Given the description of an element on the screen output the (x, y) to click on. 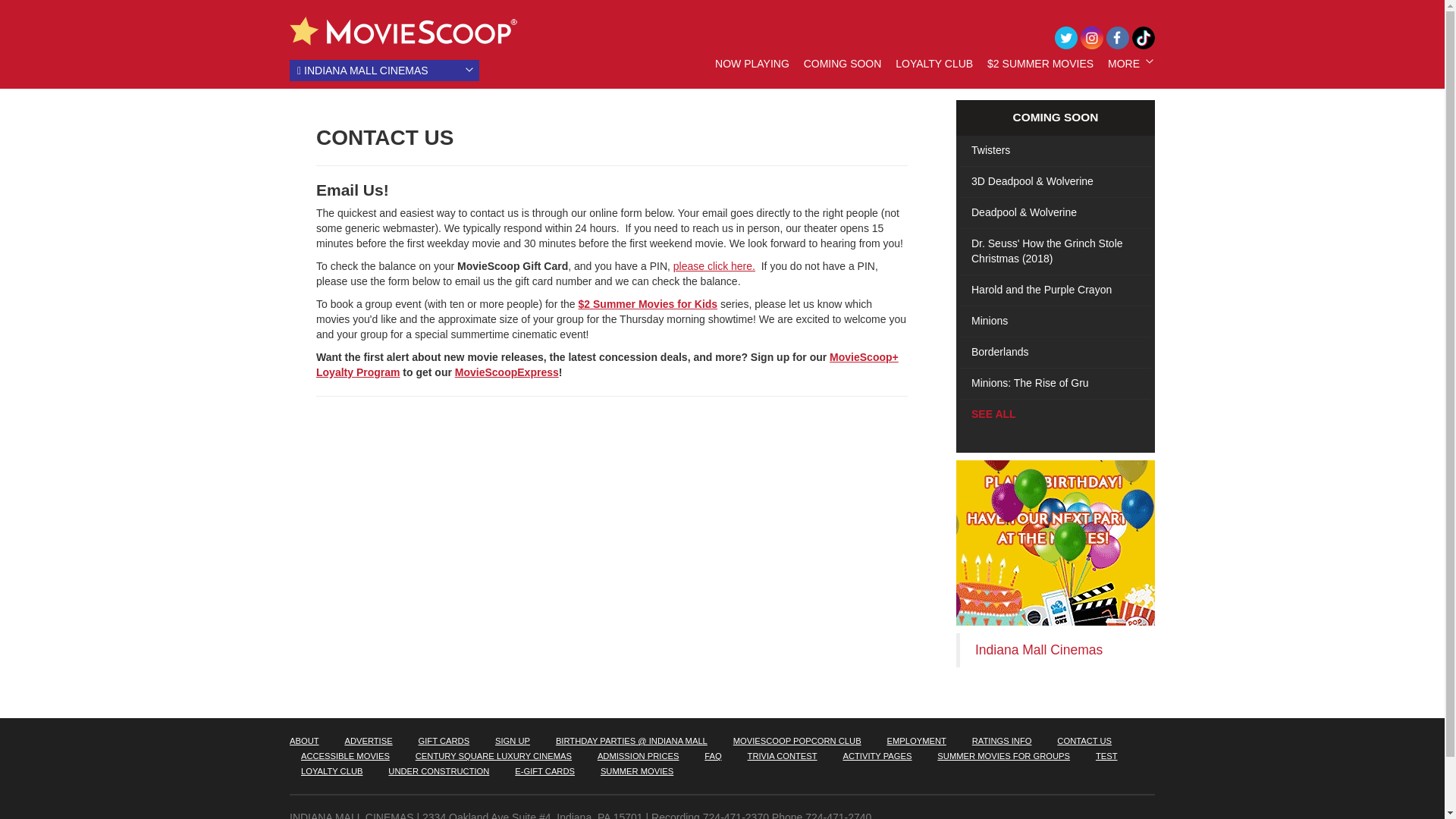
COMING SOON (842, 63)
INDIANA MALL CINEMAS (384, 70)
LOYALTY CLUB (933, 63)
NOW PLAYING (751, 63)
MORE (1124, 63)
